Given the description of an element on the screen output the (x, y) to click on. 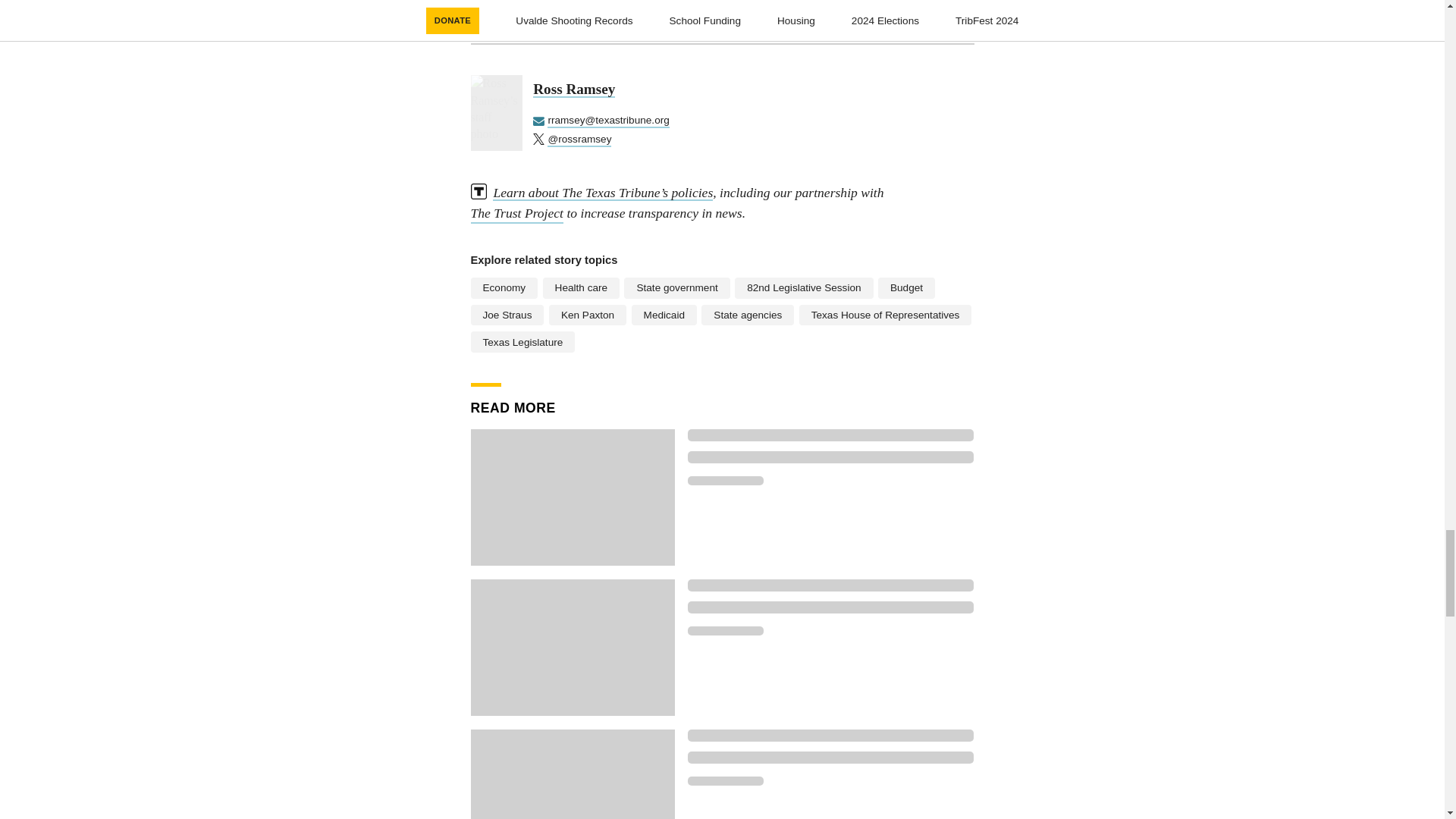
Loading indicator (830, 457)
Loading indicator (724, 480)
Loading indicator (830, 585)
Loading indicator (724, 630)
Loading indicator (830, 607)
Loading indicator (724, 780)
Loading indicator (830, 735)
Loading indicator (830, 435)
Loading indicator (830, 757)
